Given the description of an element on the screen output the (x, y) to click on. 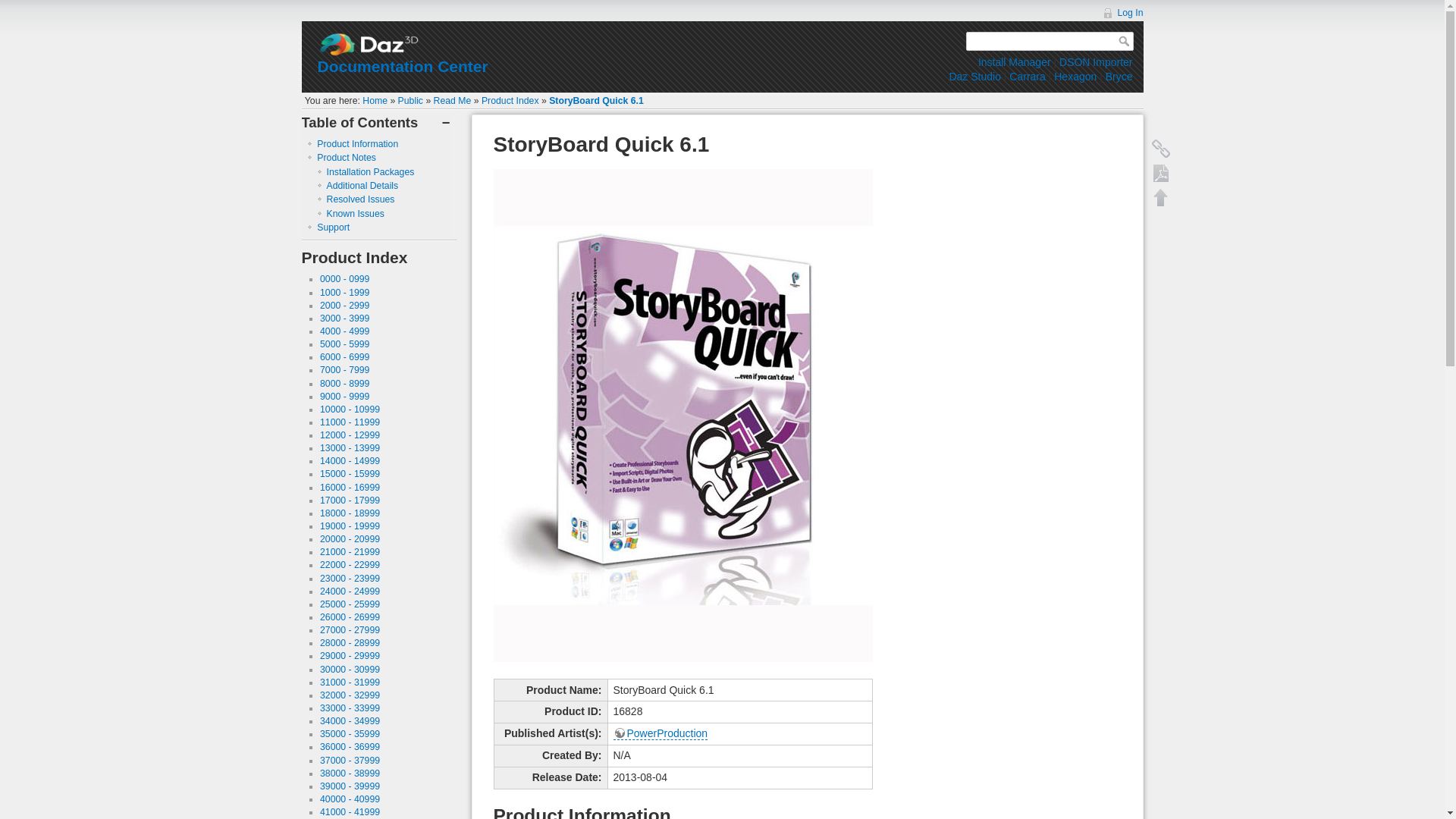
public:software:dazstudio:start (974, 76)
Support (333, 226)
Daz Studio (974, 76)
public:software:carrara:start (1027, 76)
Search (1125, 40)
15000 - 15999 (350, 473)
11000 - 11999 (350, 421)
Hexagon (1075, 76)
public:start (410, 100)
Product Notes (346, 157)
Resolved Issues (360, 199)
start (374, 100)
Log In (1122, 12)
14000 - 14999 (350, 460)
1000 - 1999 (344, 292)
